Given the description of an element on the screen output the (x, y) to click on. 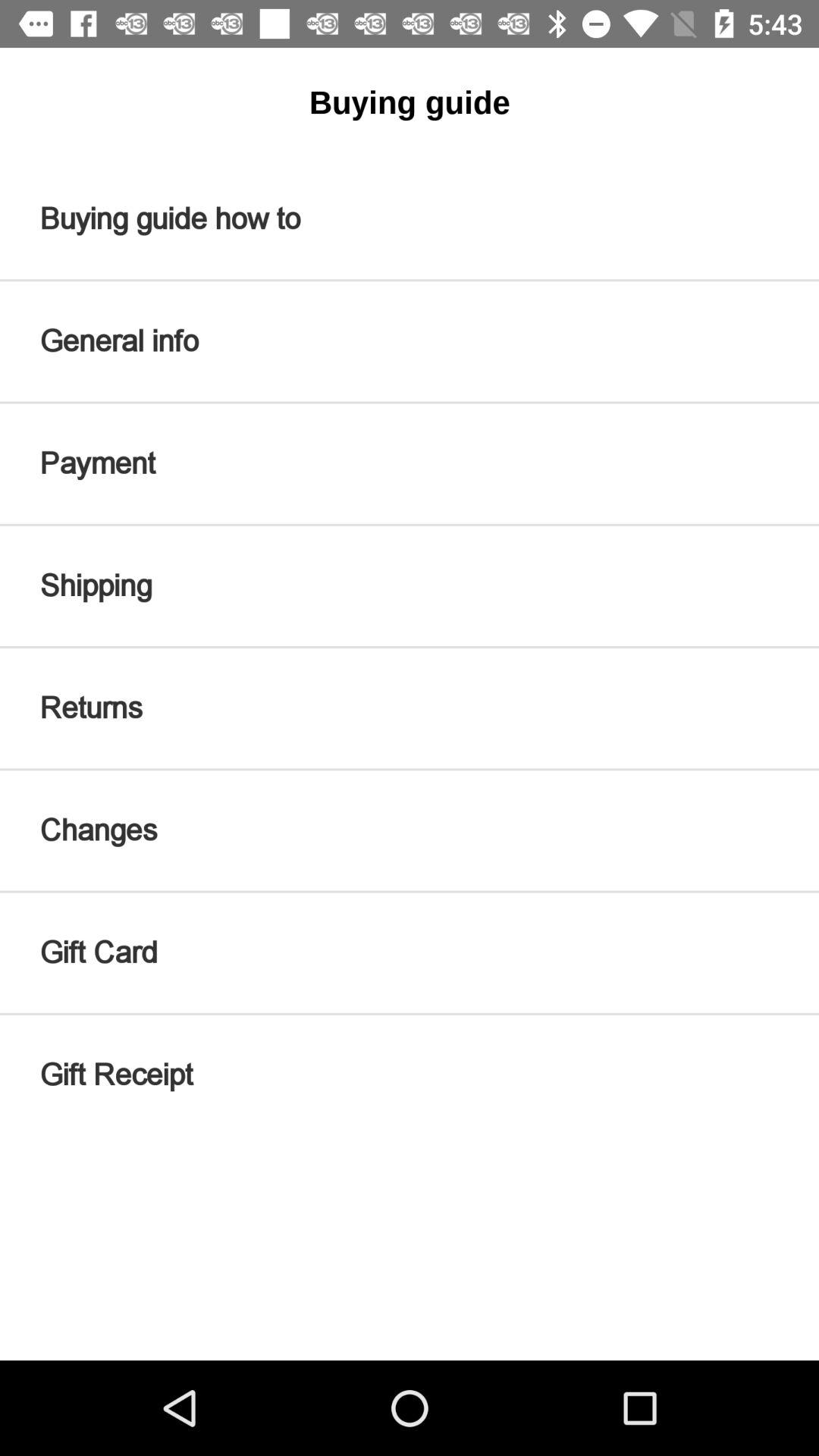
launch item below payment icon (409, 586)
